Given the description of an element on the screen output the (x, y) to click on. 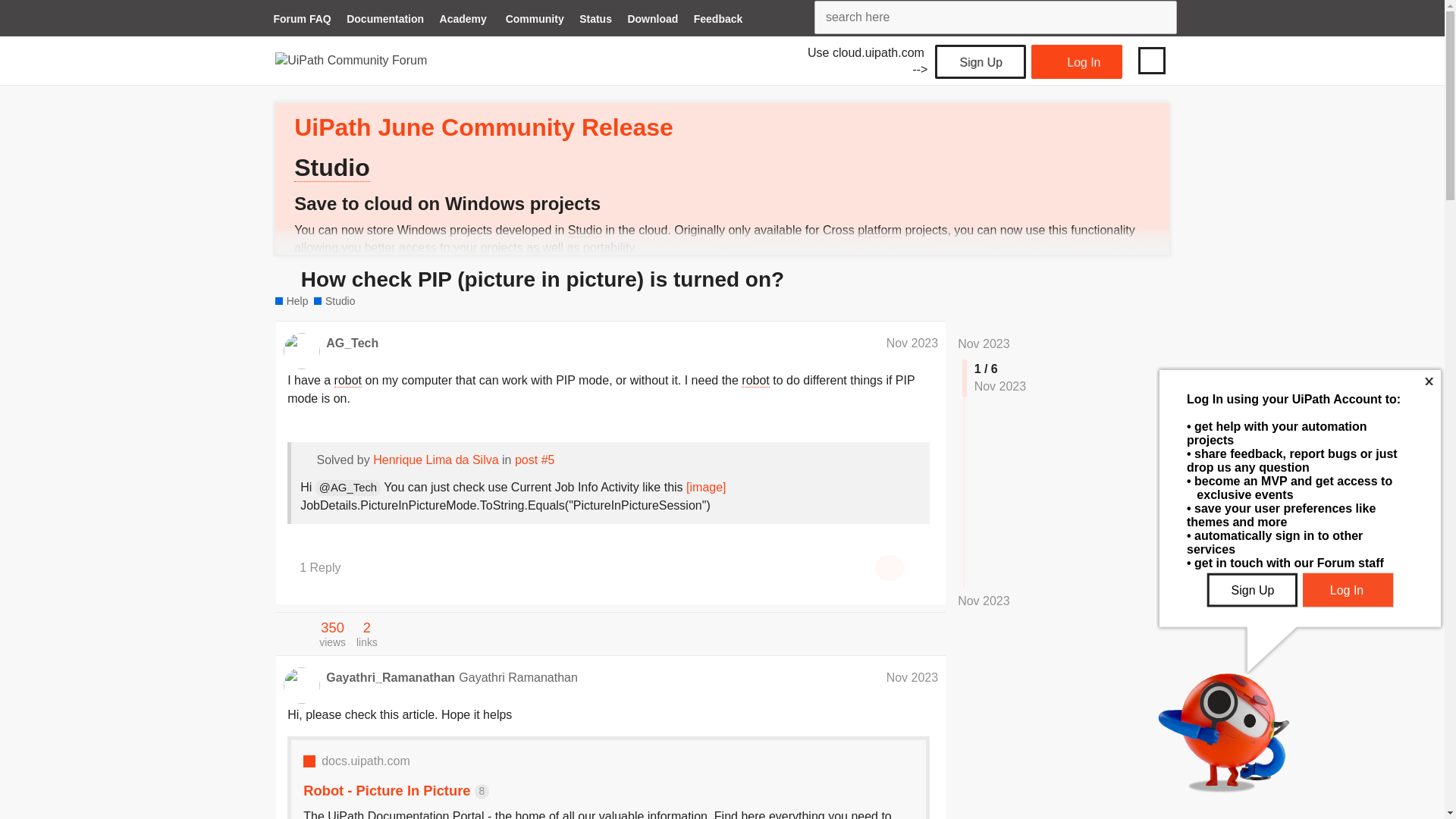
Documentation (384, 20)
Forum FAQ (301, 20)
Dismiss this banner (1145, 113)
Academy (463, 20)
menu (1151, 59)
Open advanced search (1161, 17)
